Given the description of an element on the screen output the (x, y) to click on. 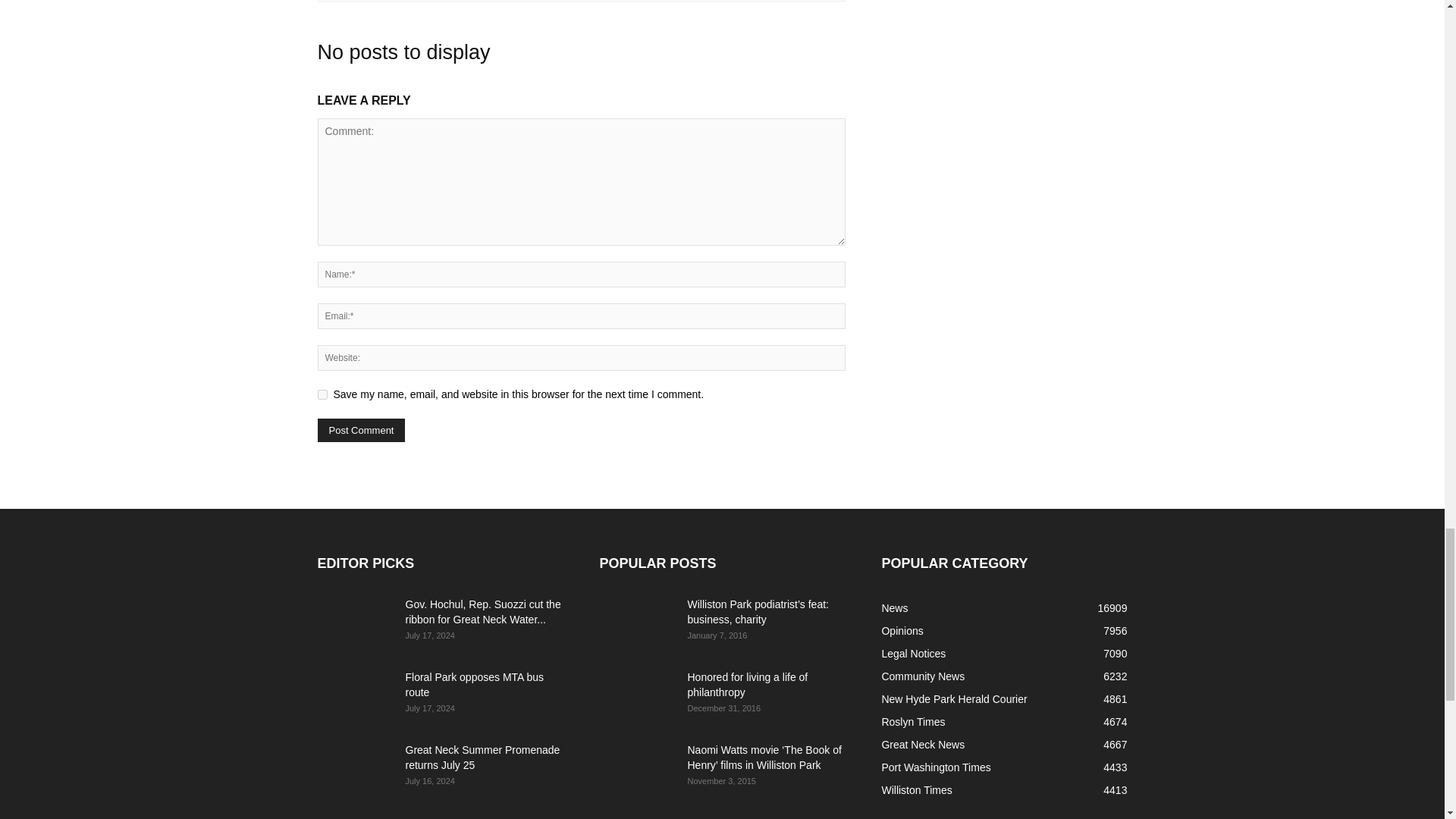
Post Comment (360, 430)
yes (321, 394)
